Given the description of an element on the screen output the (x, y) to click on. 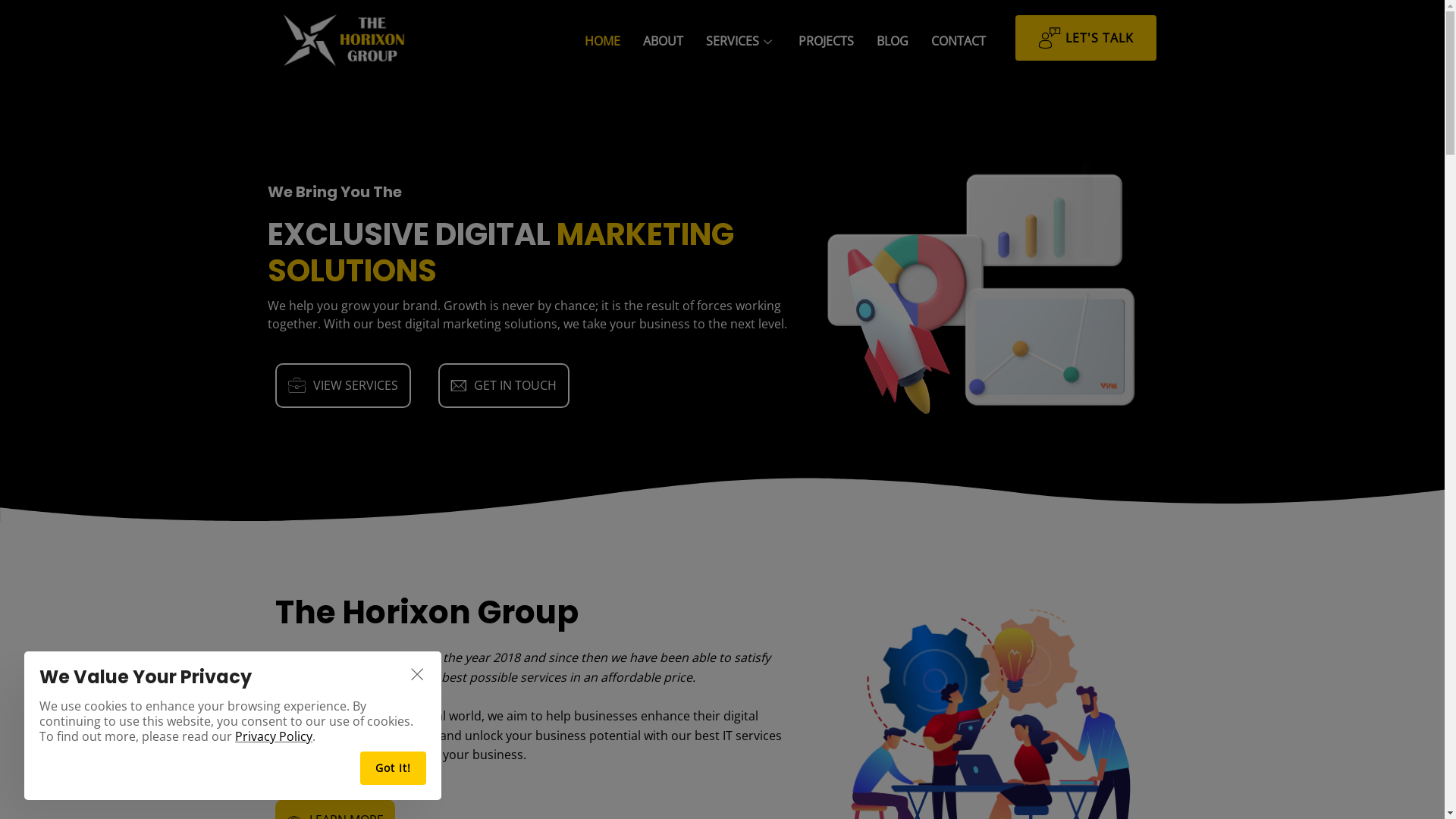
SERVICES Element type: text (740, 41)
HOME Element type: text (602, 41)
GET IN TOUCH Element type: text (503, 385)
LET'S TALK Element type: text (1085, 37)
BLOG Element type: text (892, 41)
CONTACT Element type: text (958, 41)
Got It! Element type: text (393, 767)
PROJECTS Element type: text (826, 41)
VIEW SERVICES Element type: text (342, 385)
ABOUT Element type: text (662, 41)
Privacy Policy Element type: text (273, 736)
